Given the description of an element on the screen output the (x, y) to click on. 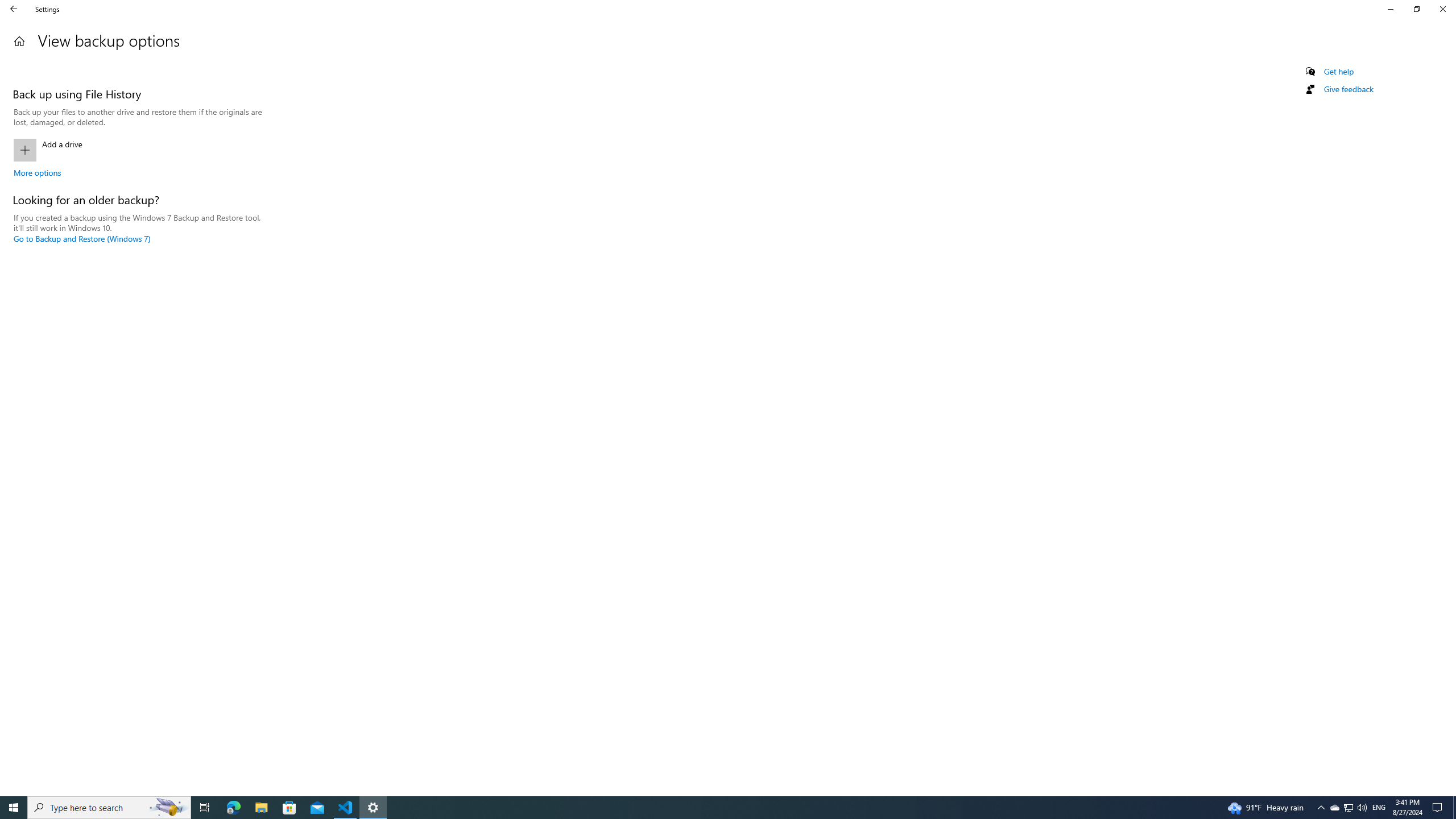
More options (37, 172)
